Given the description of an element on the screen output the (x, y) to click on. 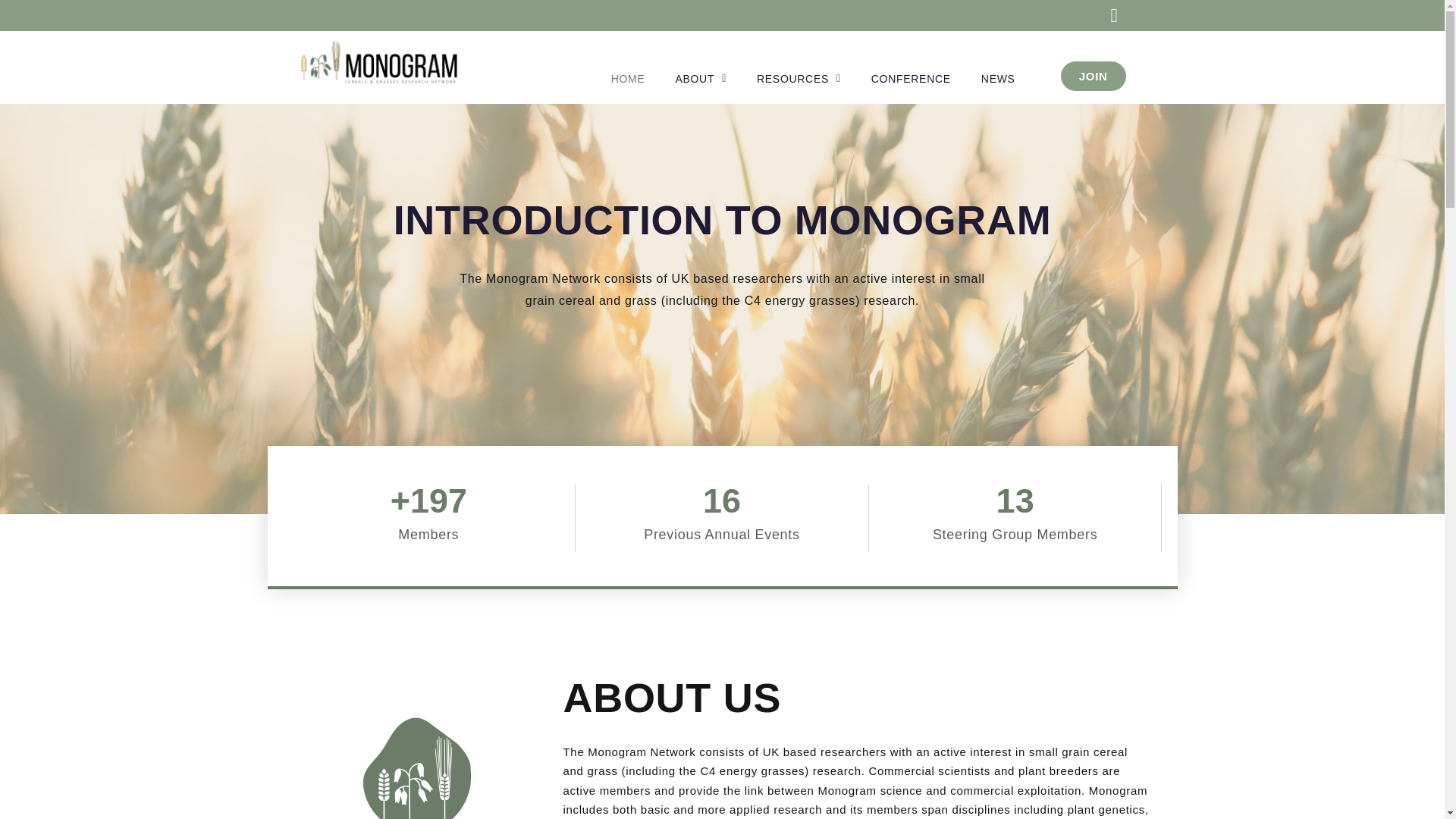
JOIN (1093, 75)
NEWS (998, 78)
HOME (628, 78)
ABOUT (700, 78)
CONFERENCE (911, 78)
RESOURCES (798, 78)
